Given the description of an element on the screen output the (x, y) to click on. 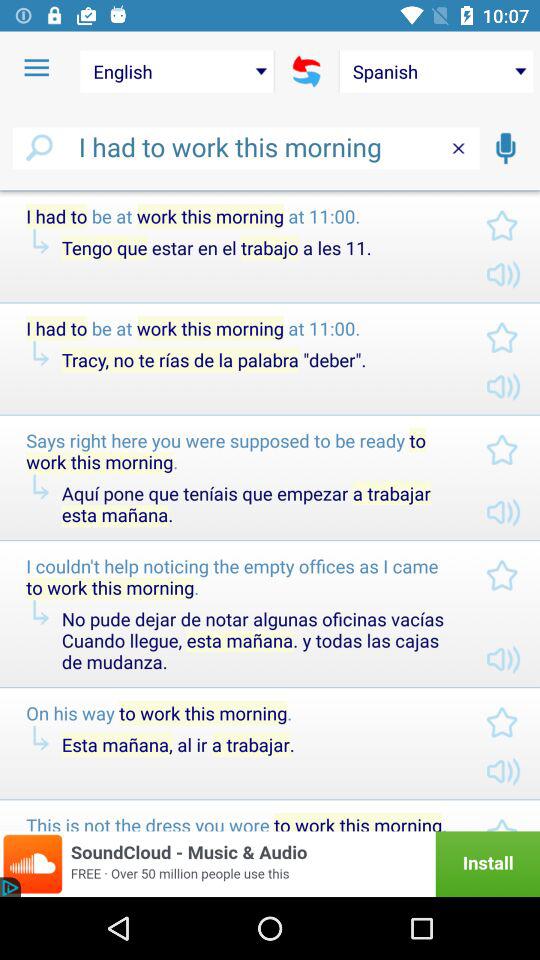
clear text (458, 148)
